Given the description of an element on the screen output the (x, y) to click on. 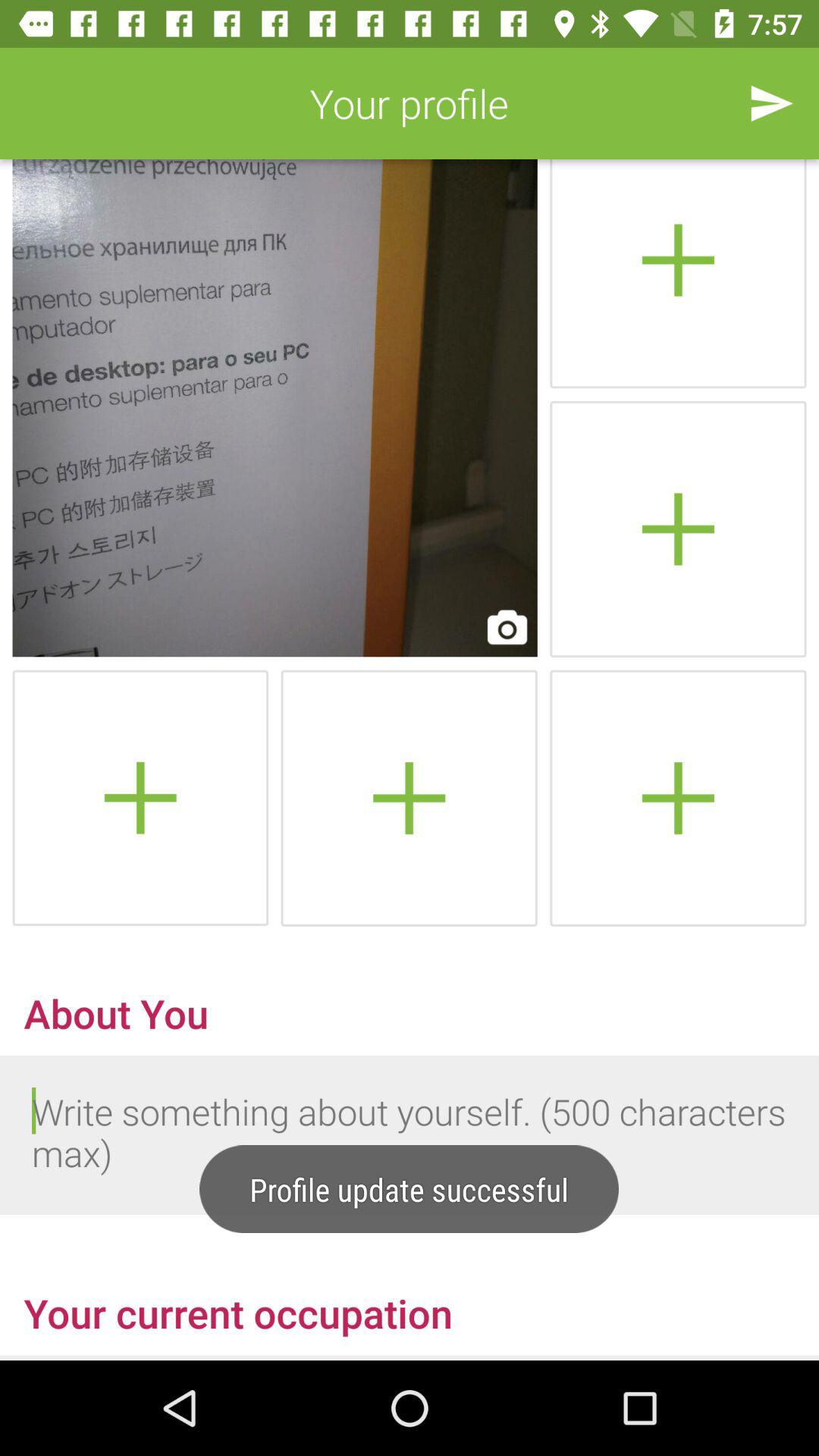
add photo (408, 797)
